Given the description of an element on the screen output the (x, y) to click on. 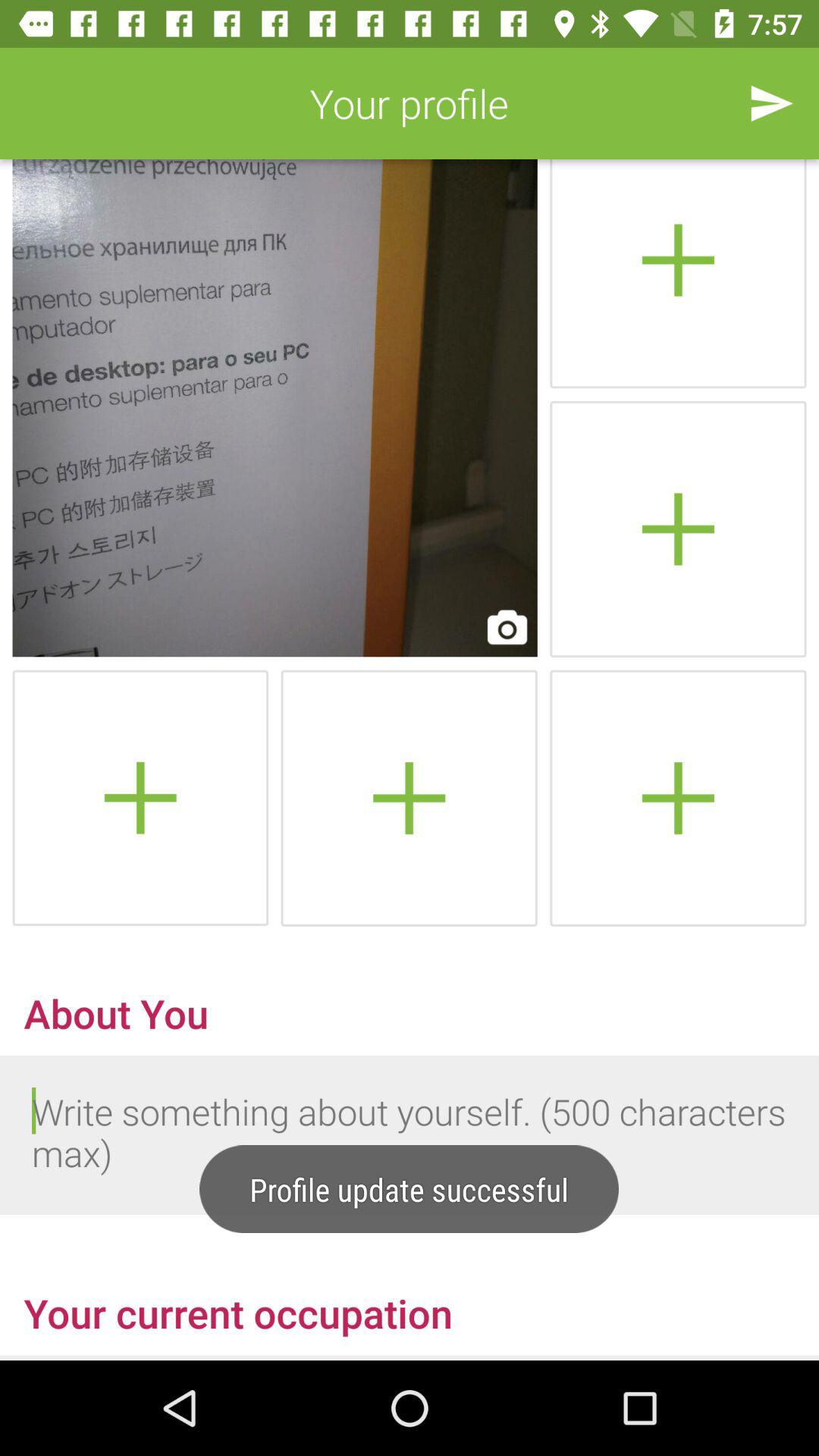
add photo (408, 797)
